Given the description of an element on the screen output the (x, y) to click on. 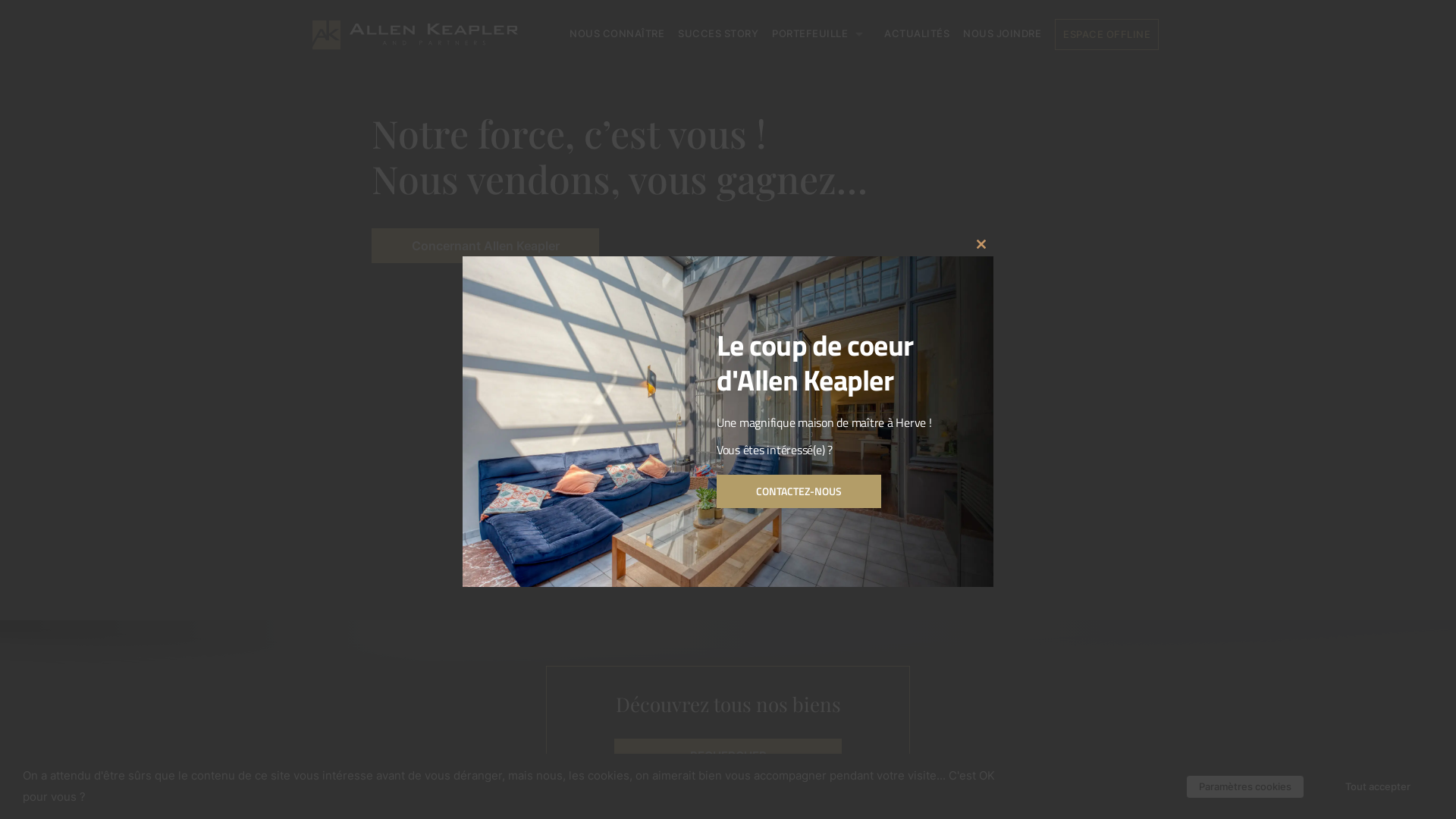
ESPACE OFFLINE Element type: text (1106, 34)
Tout accepter Element type: text (1377, 786)
Close this module Element type: text (981, 244)
CONTACTEZ-NOUS Element type: text (798, 491)
PORTEFEUILLE Element type: text (820, 33)
RECHERCHER Element type: text (727, 755)
SUCCES STORY Element type: text (717, 33)
Allen Keapler & Partners Element type: hover (415, 43)
Concernant Allen Keapler Element type: text (485, 245)
NOUS JOINDRE Element type: text (1002, 33)
